Given the description of an element on the screen output the (x, y) to click on. 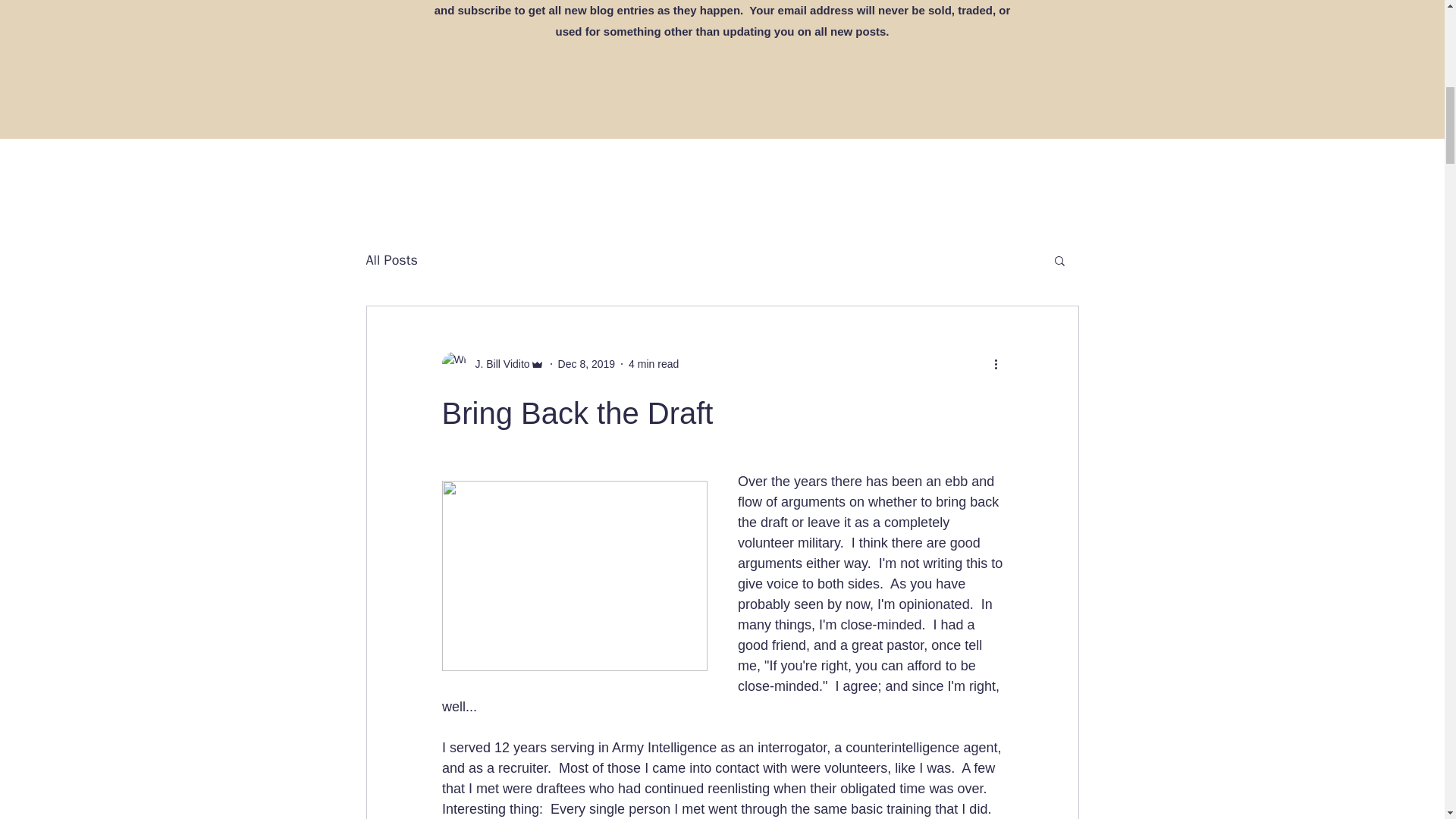
Dec 8, 2019 (586, 363)
4 min read (653, 363)
All Posts (390, 259)
J. Bill Vidito (492, 363)
J. Bill Vidito (497, 364)
